Given the description of an element on the screen output the (x, y) to click on. 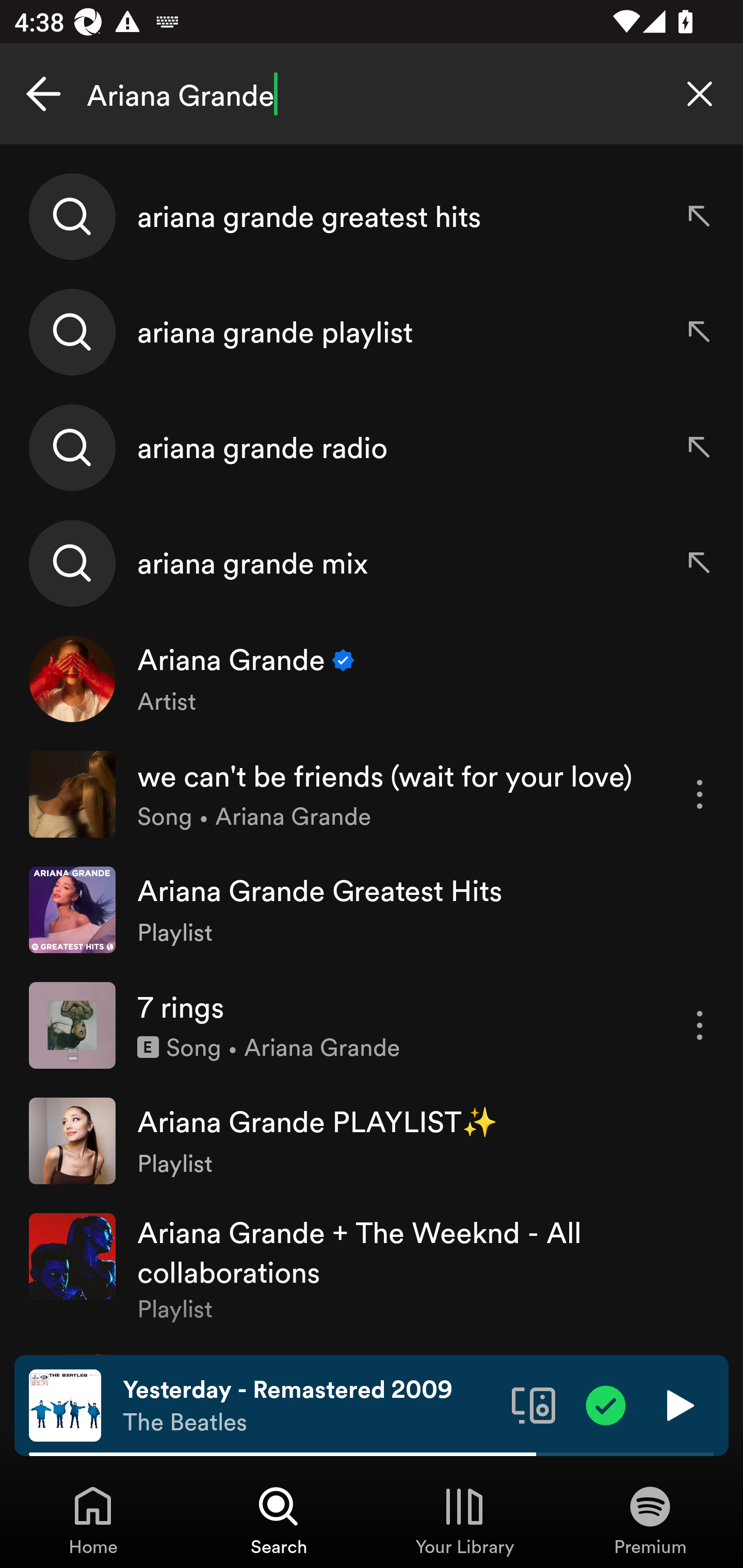
Ariana Grande (371, 93)
Cancel (43, 93)
Clear search query (699, 93)
ariana grande greatest hits (371, 216)
ariana grande playlist (371, 332)
ariana grande radio (371, 447)
ariana grande mix (371, 562)
Ariana Grande Verified Artist (371, 678)
Ariana Grande Greatest Hits Playlist (371, 909)
More options for song 7 rings (699, 1025)
Ariana Grande PLAYLIST✨ Playlist (371, 1140)
Yesterday - Remastered 2009 The Beatles (309, 1405)
The cover art of the currently playing track (64, 1404)
Connect to a device. Opens the devices menu (533, 1404)
Item added (605, 1404)
Play (677, 1404)
Home, Tab 1 of 4 Home Home (92, 1519)
Search, Tab 2 of 4 Search Search (278, 1519)
Your Library, Tab 3 of 4 Your Library Your Library (464, 1519)
Premium, Tab 4 of 4 Premium Premium (650, 1519)
